Given the description of an element on the screen output the (x, y) to click on. 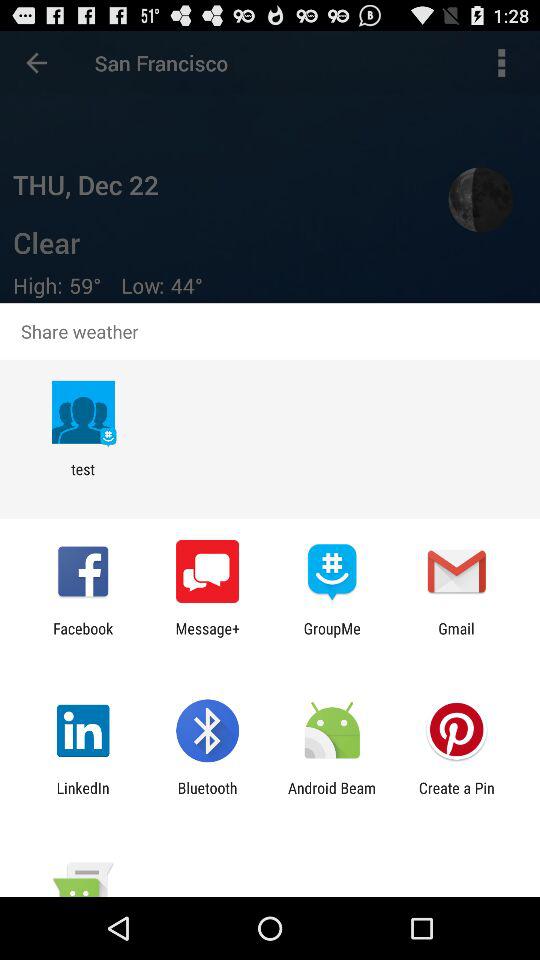
tap the item next to facebook icon (207, 637)
